Given the description of an element on the screen output the (x, y) to click on. 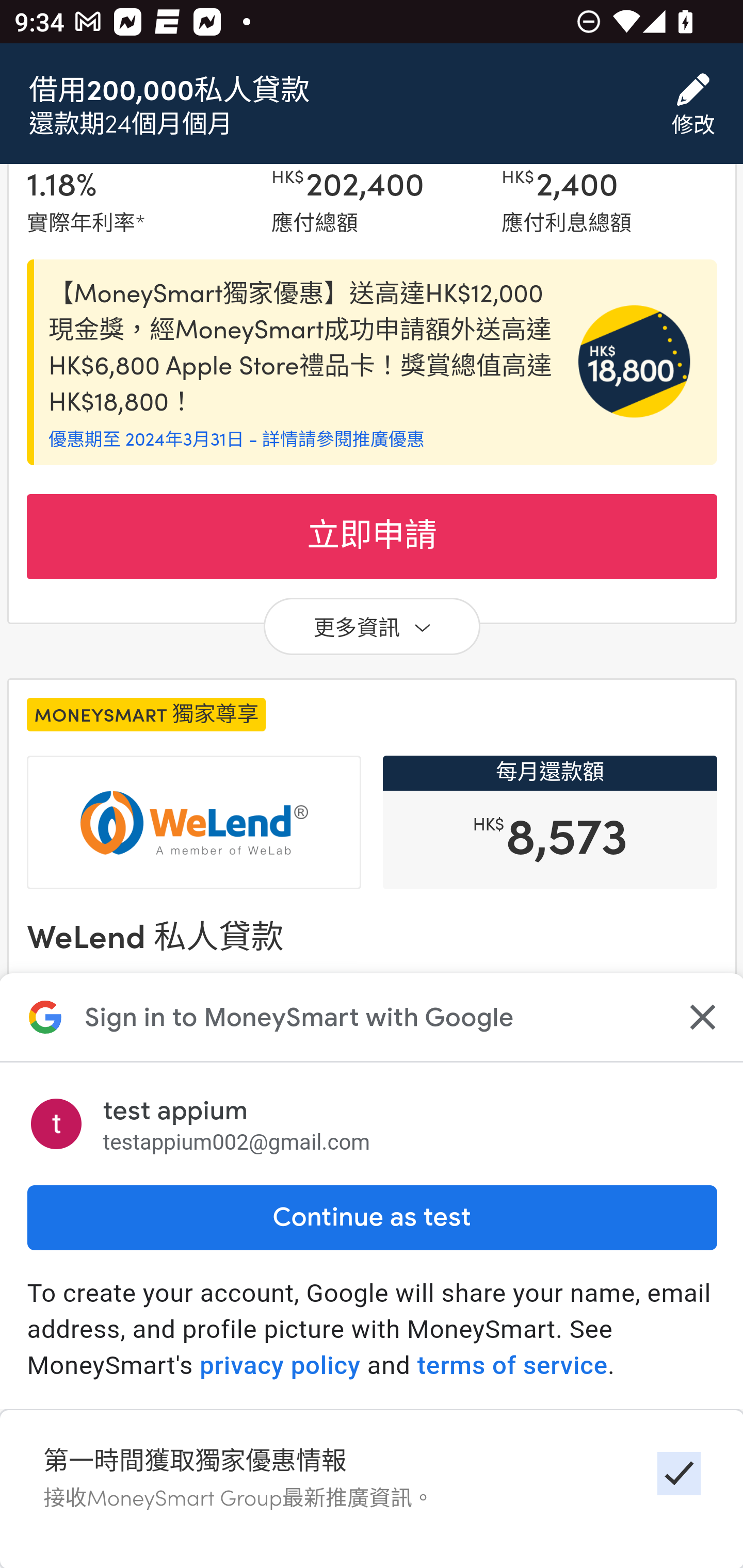
修改 (692, 105)
立即申請 (371, 537)
WeLend logo (193, 821)
WeLend 私人貸款 (155, 936)
Close (700, 1017)
Continue as test (371, 1218)
立即申請 (371, 1323)
privacy policy (279, 1365)
terms of service (511, 1365)
